Given the description of an element on the screen output the (x, y) to click on. 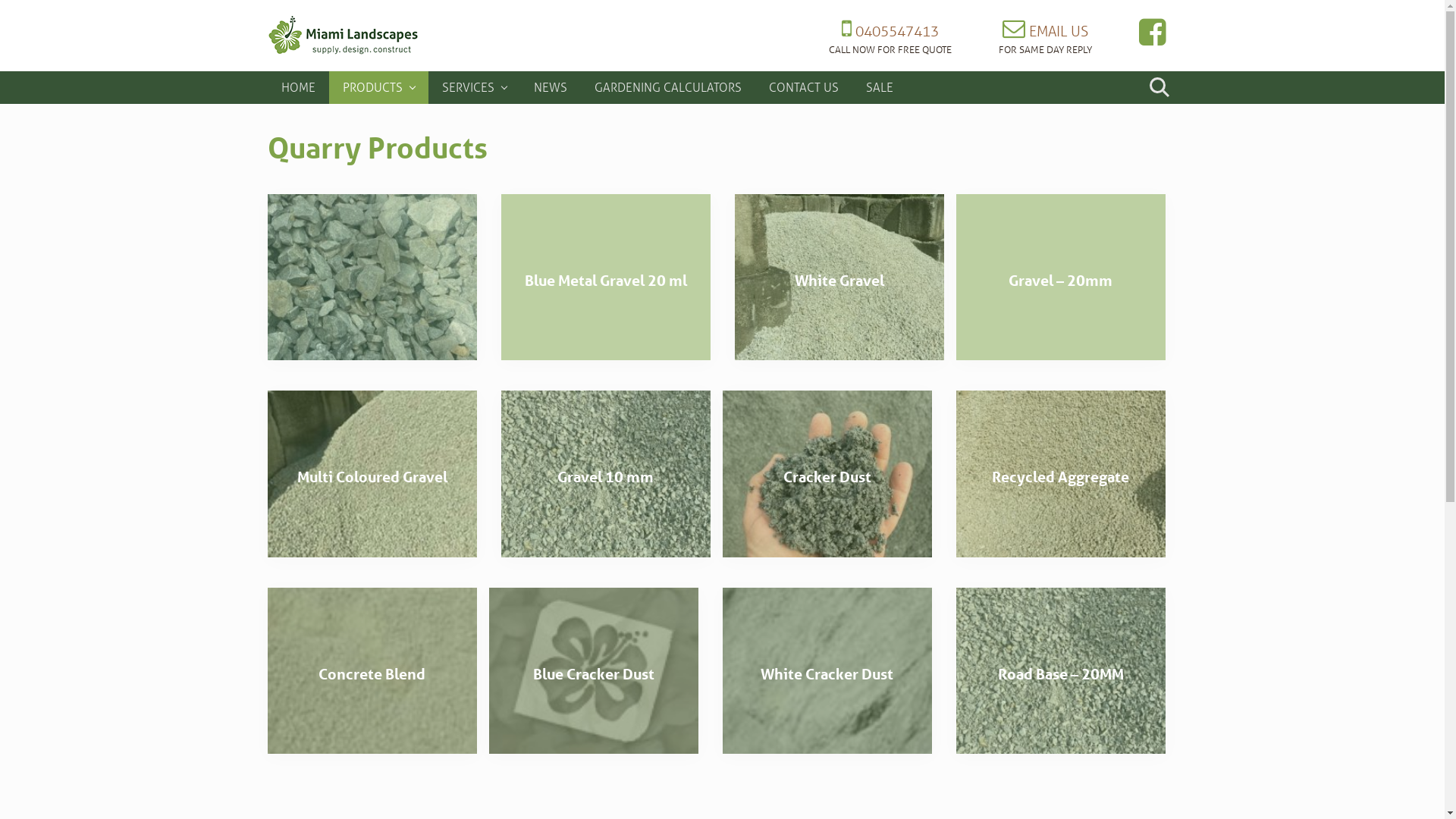
NEWS Element type: text (550, 86)
Blue Metal Gravel 20 ml Element type: text (605, 280)
Concrete Blend Element type: text (371, 674)
SERVICES Element type: text (473, 86)
GARDENING CALCULATORS Element type: text (667, 86)
Recycled Aggregate Element type: text (1060, 476)
PRODUCTS Element type: text (378, 86)
White Gravel Element type: text (839, 280)
Multi Coloured Gravel Element type: text (371, 473)
Blue Cracker Dust Element type: text (592, 674)
White Cracker Dust Element type: text (826, 674)
Concrete Blend Element type: text (371, 669)
FOR SAME DAY REPLY
EMAIL US Element type: text (1045, 34)
White Gravel Element type: text (838, 277)
Recycled Aggregate Element type: text (1059, 473)
Skip to right header navigation Element type: text (0, 0)
Blue Cracker Dust Element type: text (592, 669)
Gravel 10 mm Element type: text (604, 473)
Cracker Dust Element type: text (826, 476)
Cracker Dust Element type: text (826, 473)
White Cracker Dust Element type: text (826, 669)
Search Element type: text (1157, 86)
Blue Metal Gravel 20 ml Element type: text (604, 277)
CALL NOW FOR FREE QUOTE
0405547413 Element type: text (890, 34)
SALE Element type: text (879, 86)
HOME Element type: text (297, 86)
Gravel 10 mm Element type: text (605, 476)
Multi Coloured Gravel Element type: text (372, 476)
CONTACT US Element type: text (803, 86)
